Given the description of an element on the screen output the (x, y) to click on. 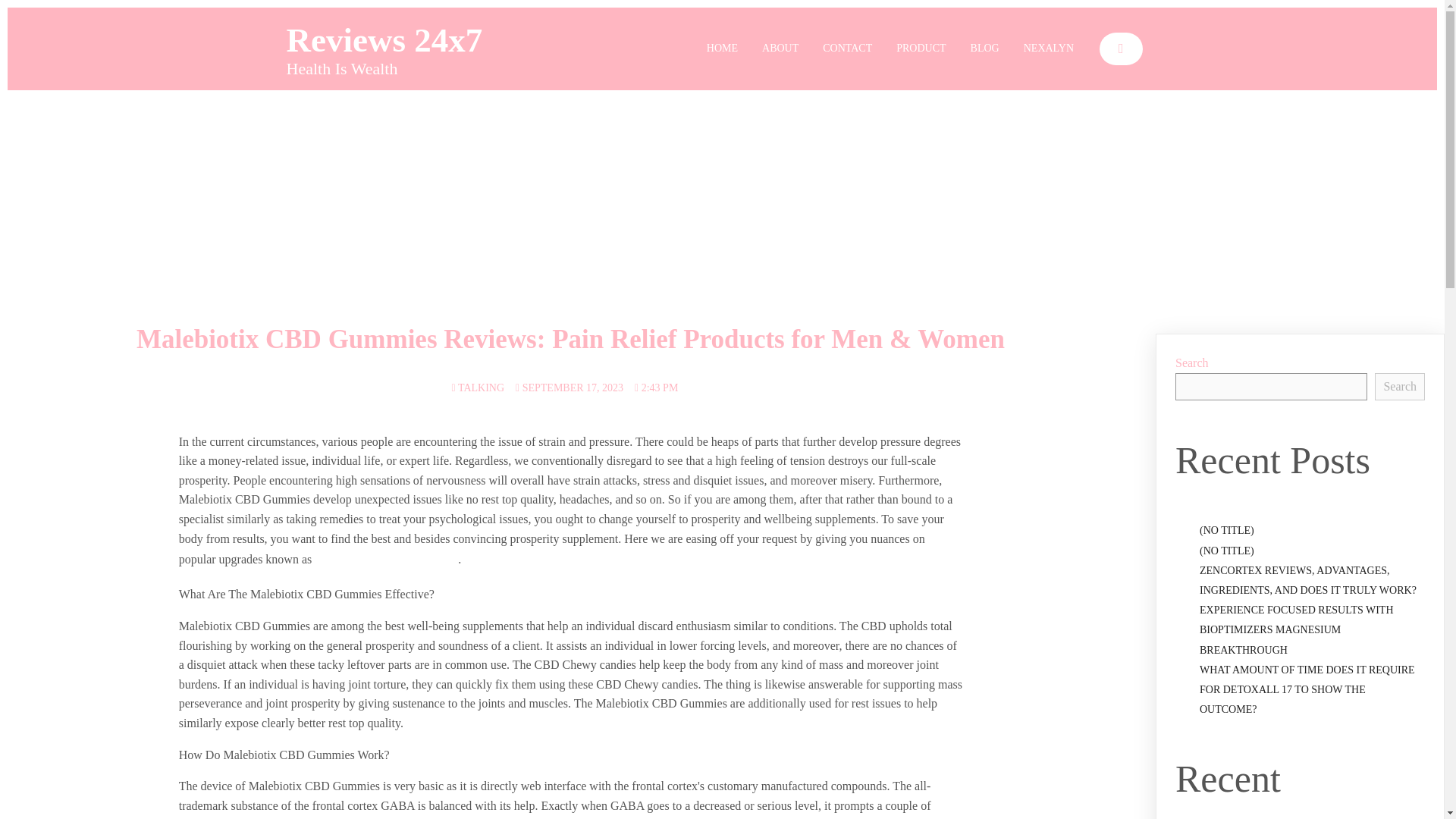
PRODUCT (920, 48)
HOME (721, 48)
CONTACT (847, 48)
2:43 PM (656, 387)
SEPTEMBER 17, 2023 (569, 387)
MALEBIOTIX CBD GUMMIES (386, 559)
Search (1399, 386)
